Given the description of an element on the screen output the (x, y) to click on. 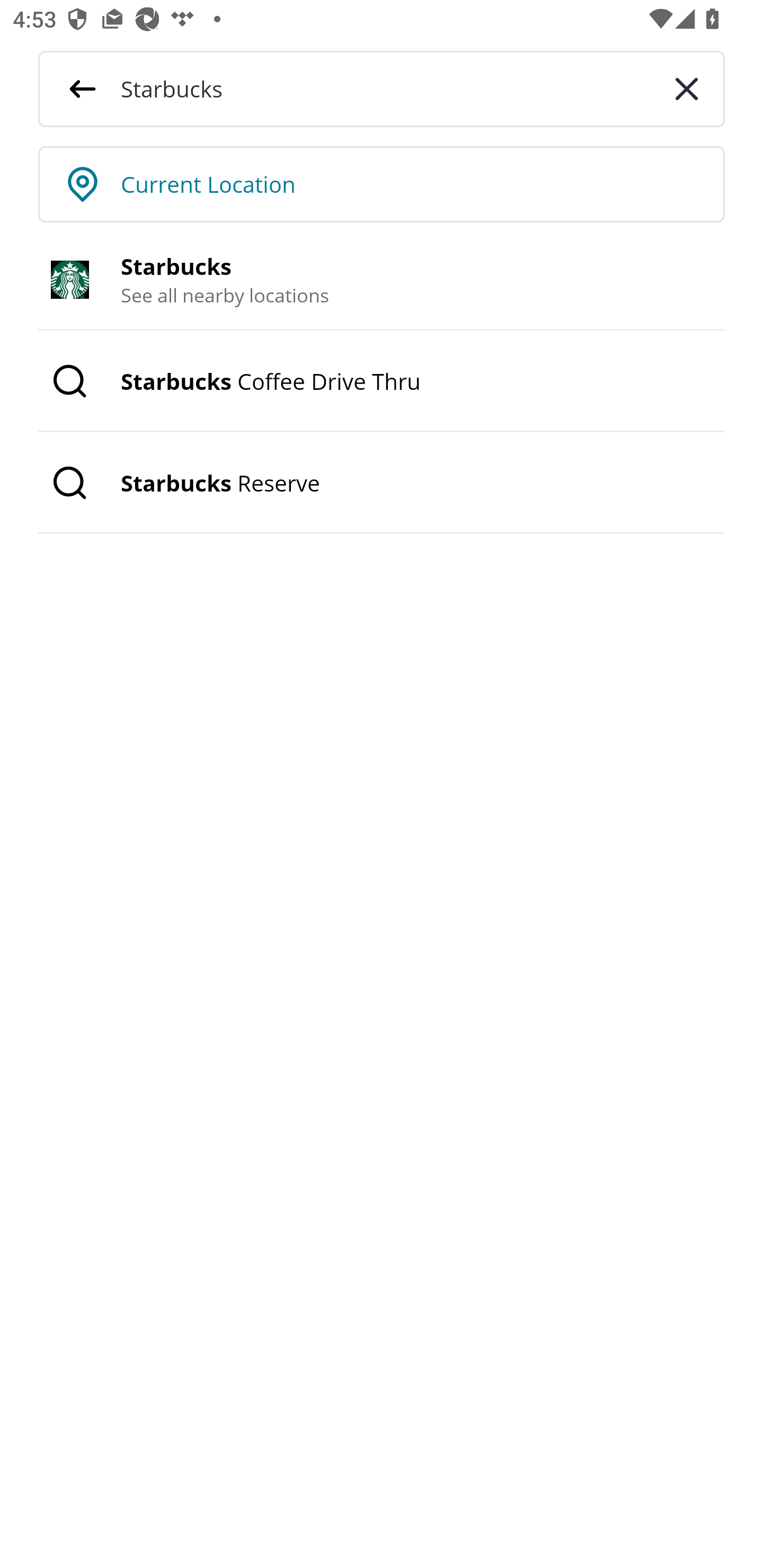
Starbucks See all nearby locations (381, 279)
